Given the description of an element on the screen output the (x, y) to click on. 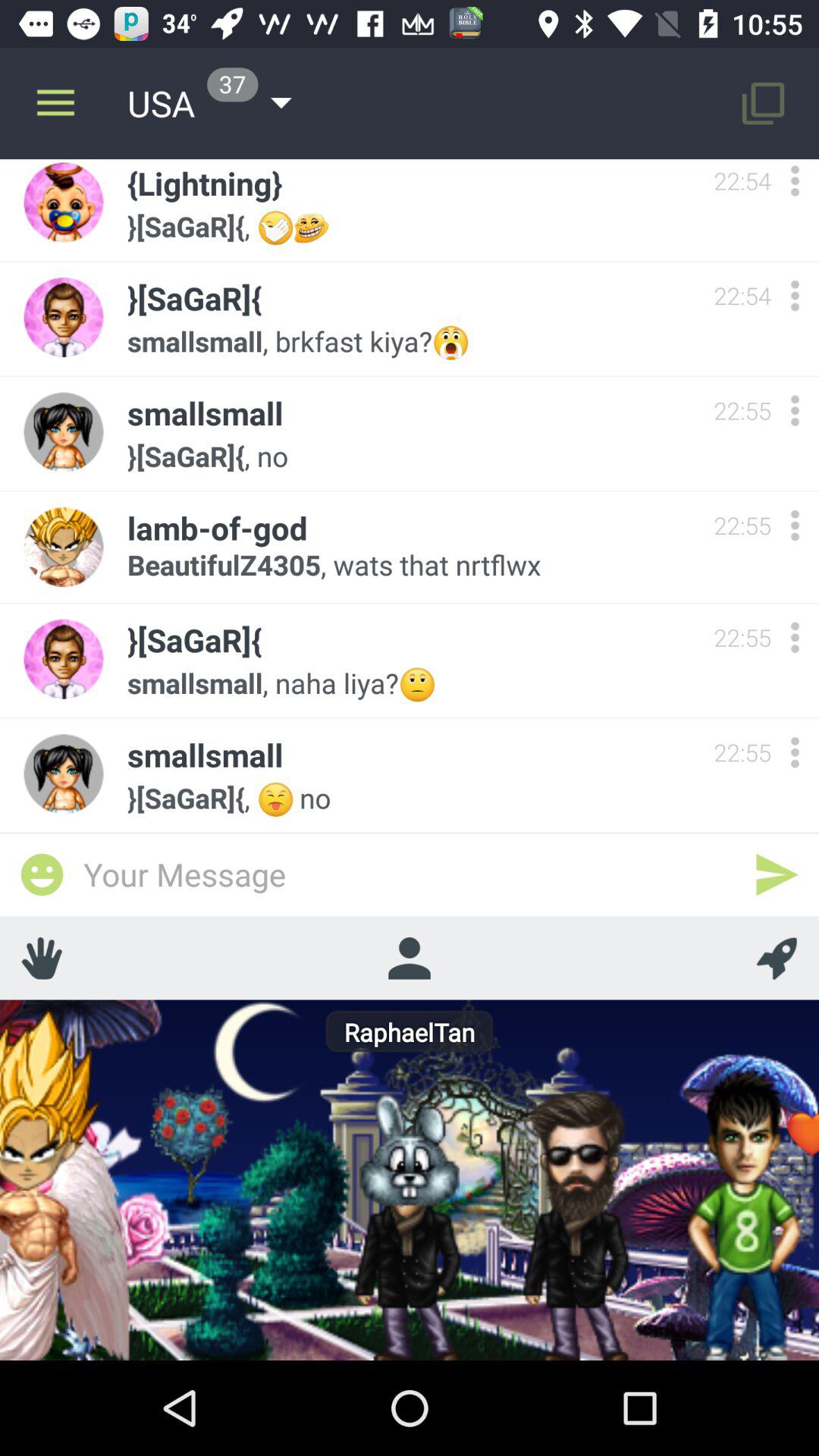
settings button (795, 752)
